Given the description of an element on the screen output the (x, y) to click on. 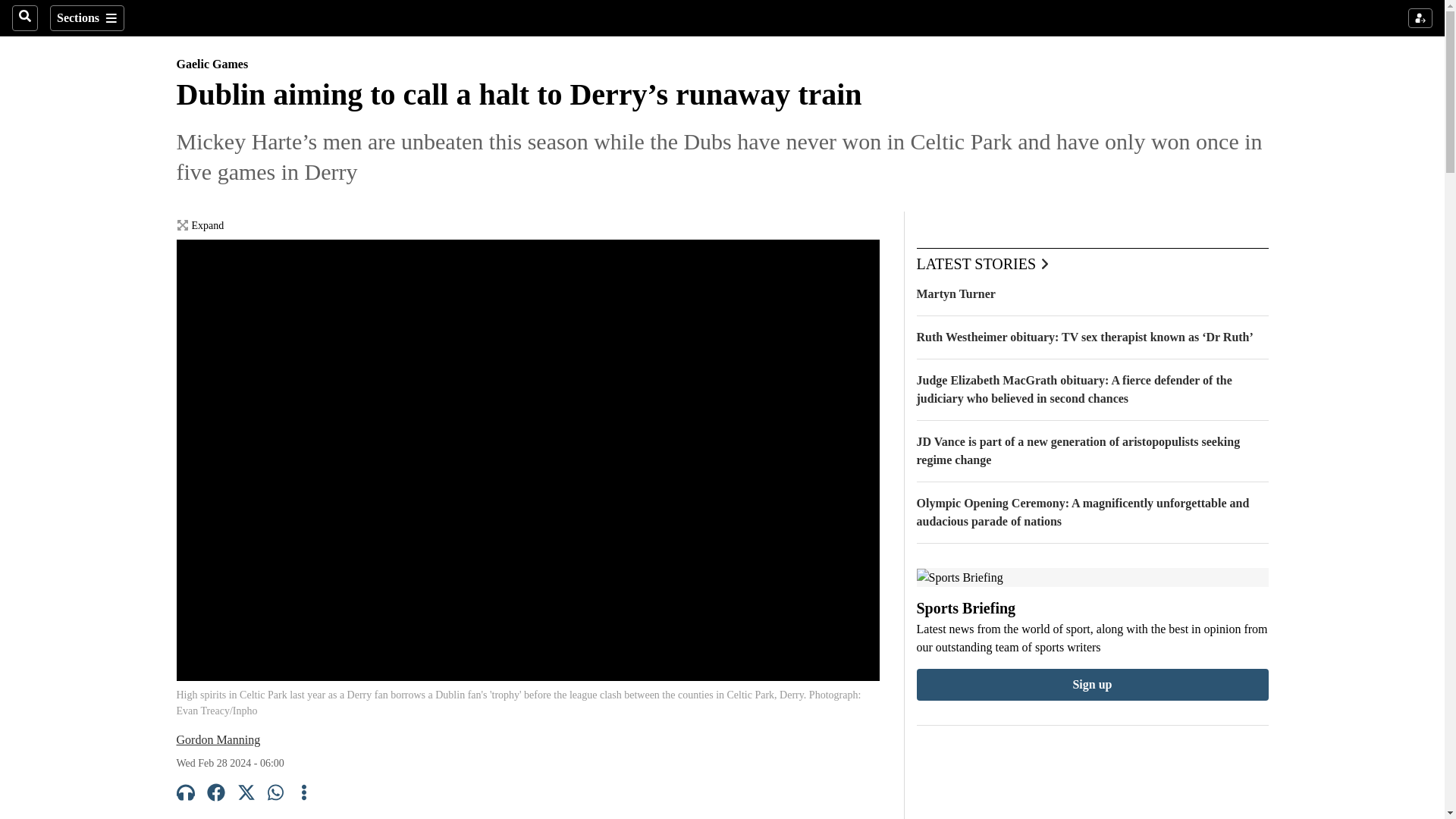
Facebook (215, 794)
X (244, 794)
WhatsApp (275, 794)
Sections (86, 17)
